Given the description of an element on the screen output the (x, y) to click on. 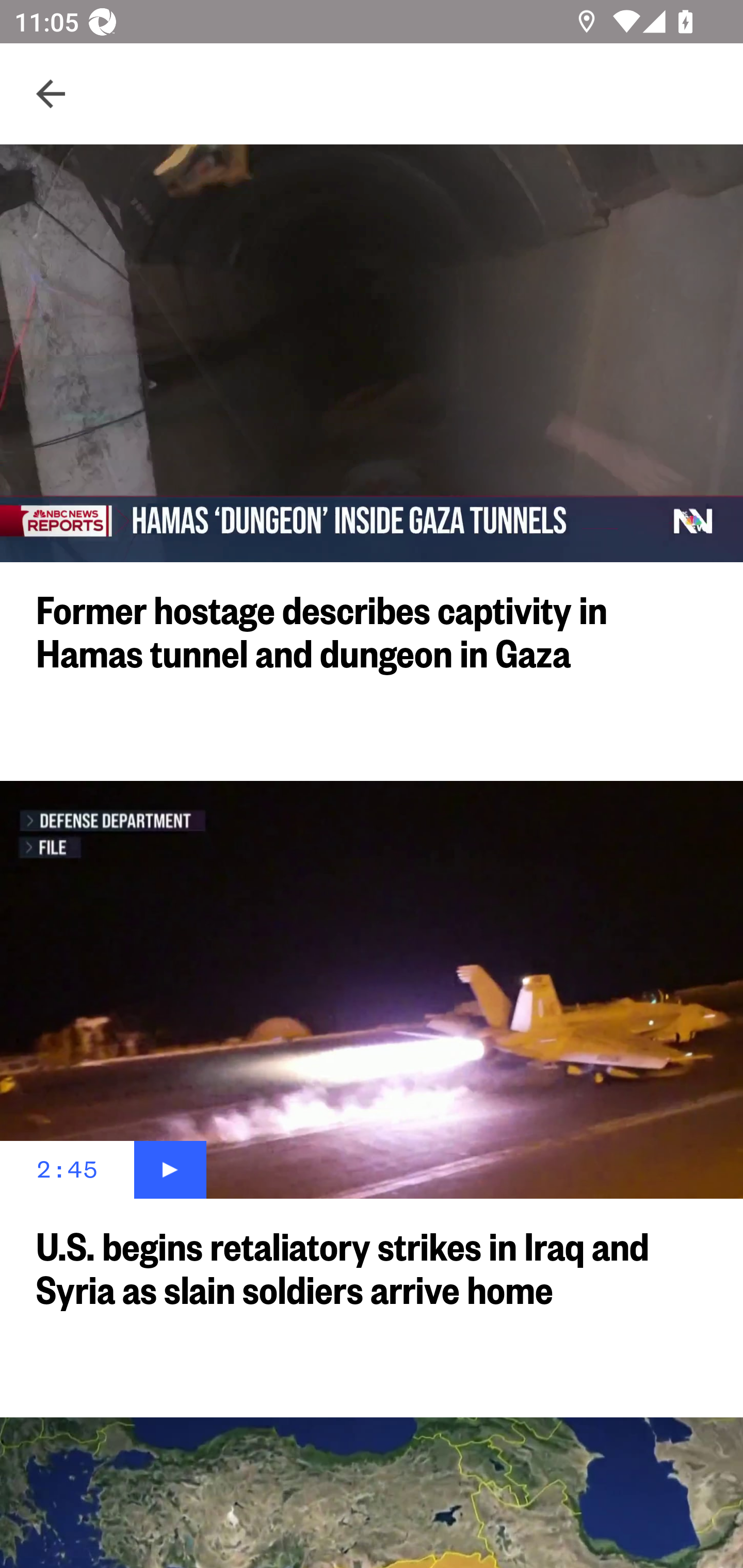
Navigate up (50, 93)
